Given the description of an element on the screen output the (x, y) to click on. 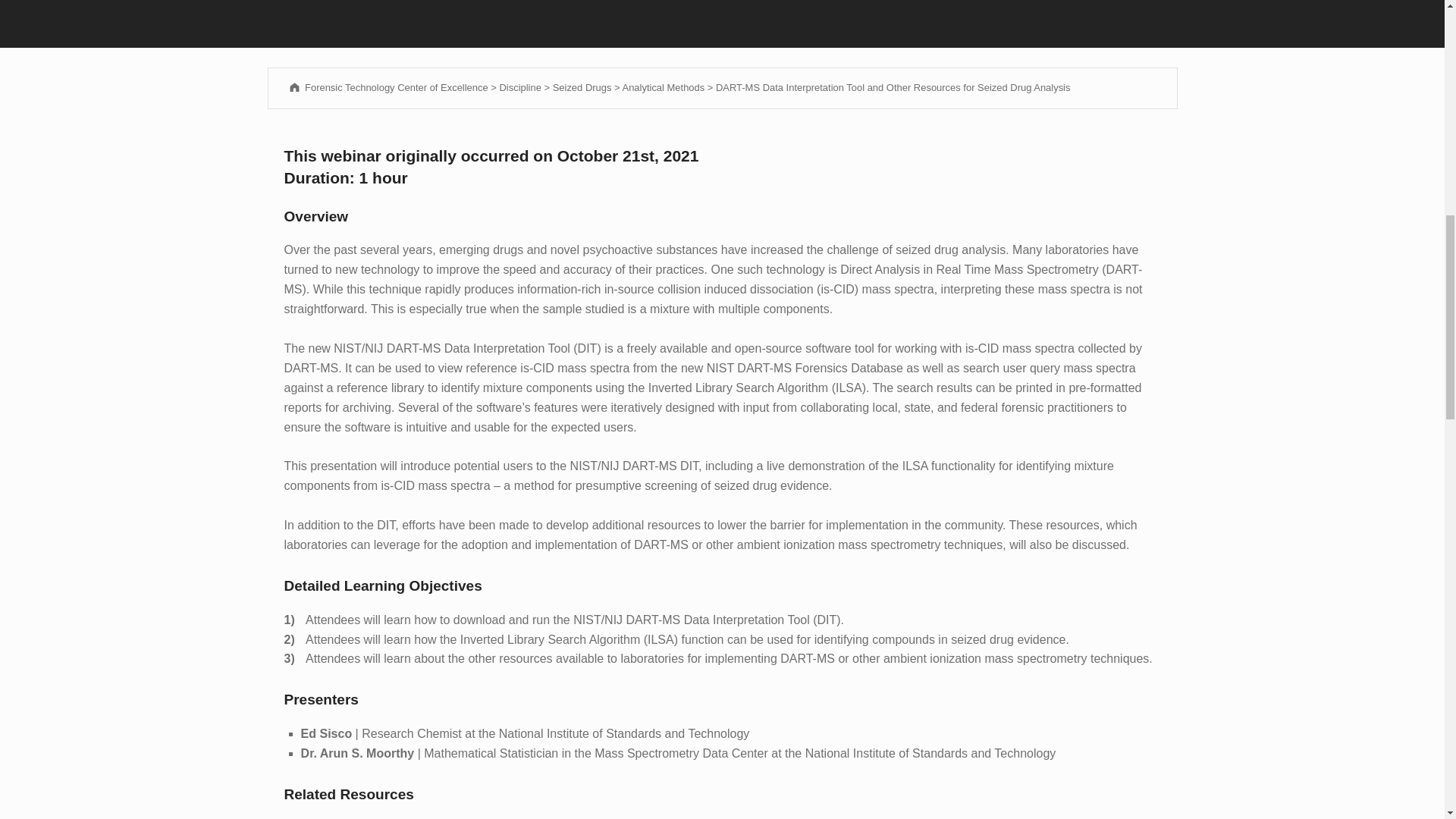
Go to the Seized Drugs category archives. (582, 87)
Go to the Analytical Methods category archives. (662, 87)
Go to Forensic Technology Center of Excellence. (386, 87)
Go to the Discipline category archives. (519, 87)
